Given the description of an element on the screen output the (x, y) to click on. 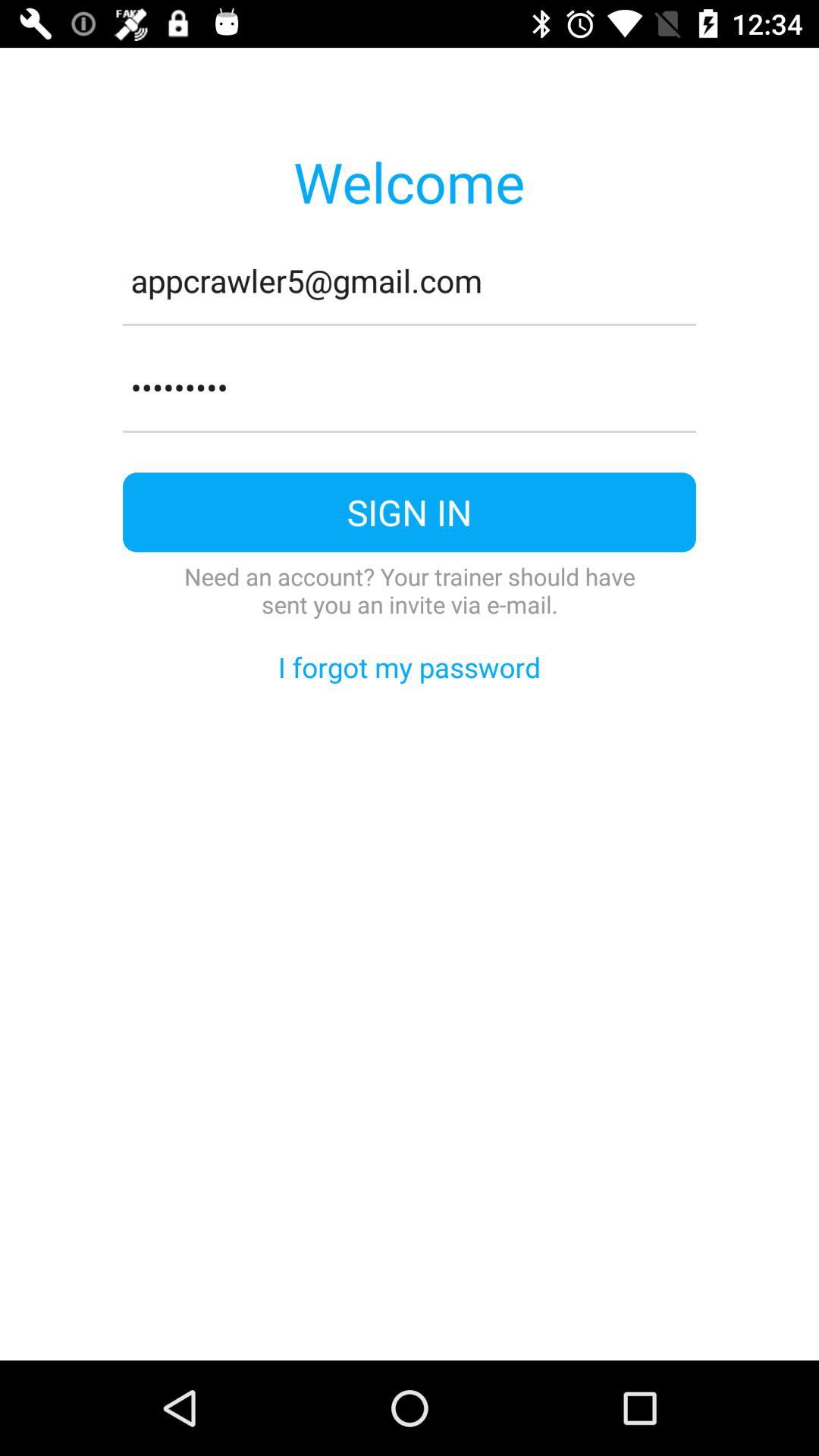
open item below the crowd3116 item (409, 431)
